Given the description of an element on the screen output the (x, y) to click on. 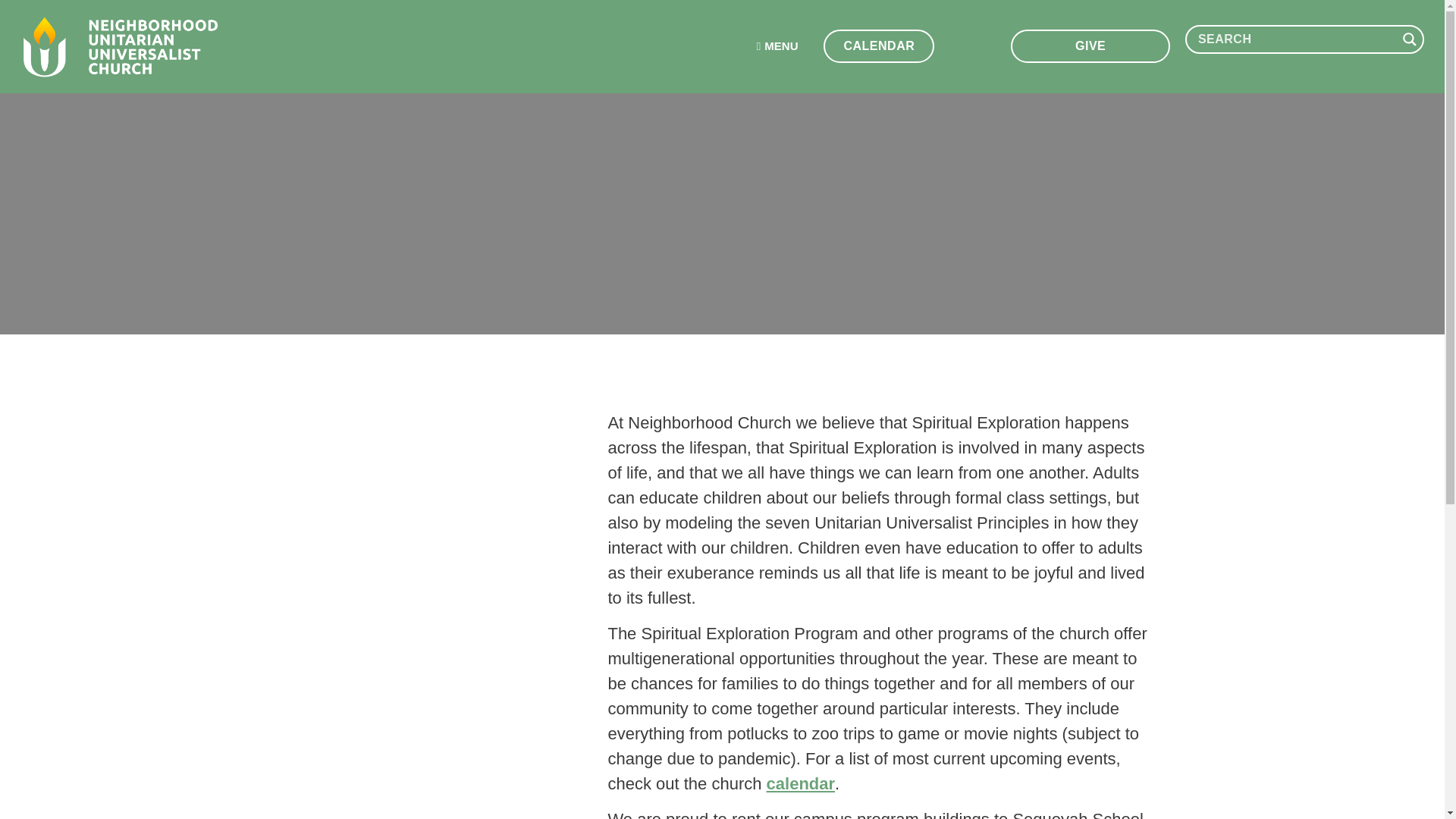
MENU (777, 46)
CALENDAR (879, 46)
GIVE (1090, 46)
calendar (801, 783)
